Given the description of an element on the screen output the (x, y) to click on. 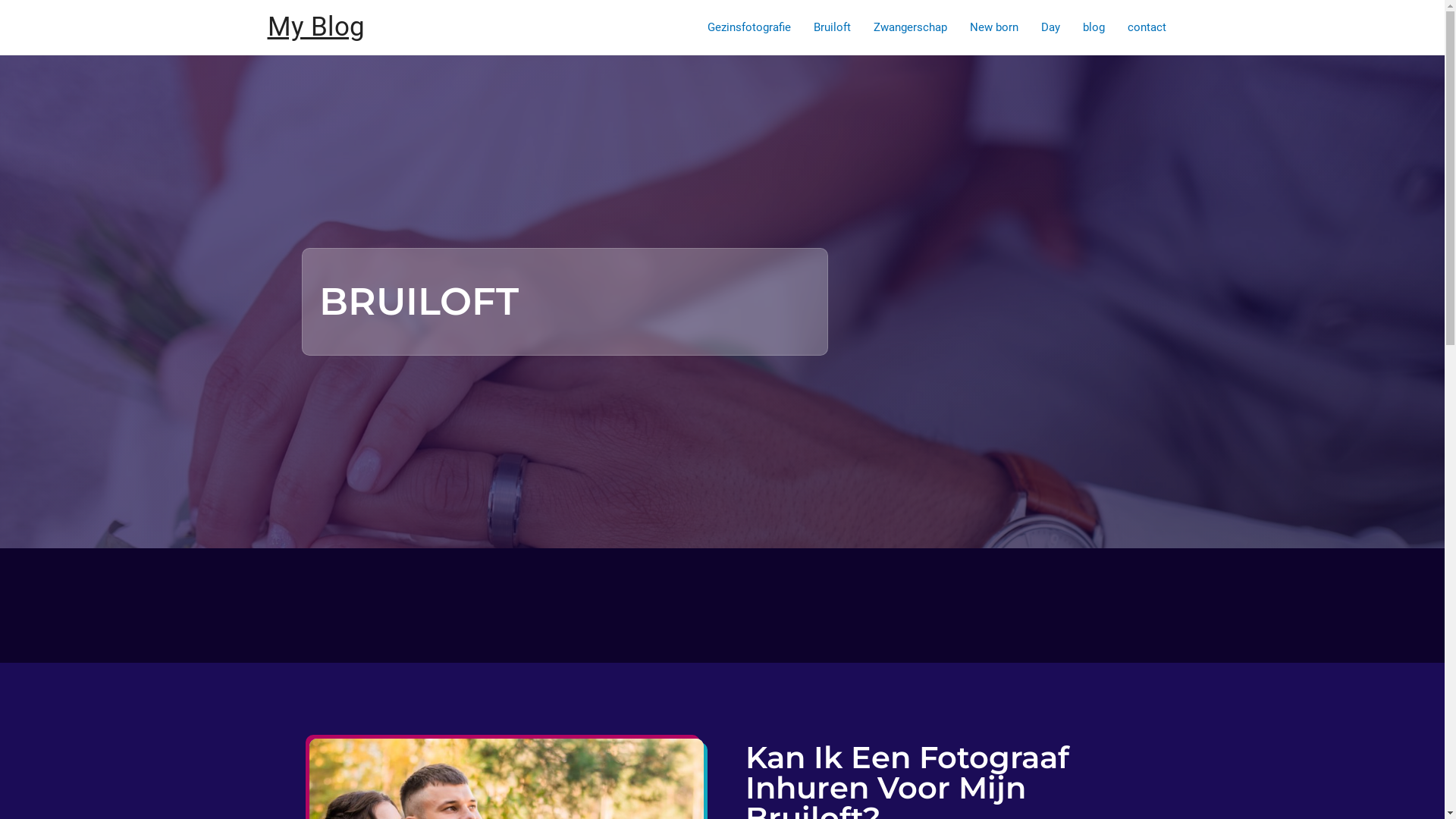
Zwangerschap Element type: text (909, 26)
My Blog Element type: text (315, 26)
Bruiloft Element type: text (832, 26)
New born Element type: text (993, 26)
blog Element type: text (1092, 26)
Day Element type: text (1050, 26)
Gezinsfotografie Element type: text (749, 26)
contact Element type: text (1146, 26)
